Given the description of an element on the screen output the (x, y) to click on. 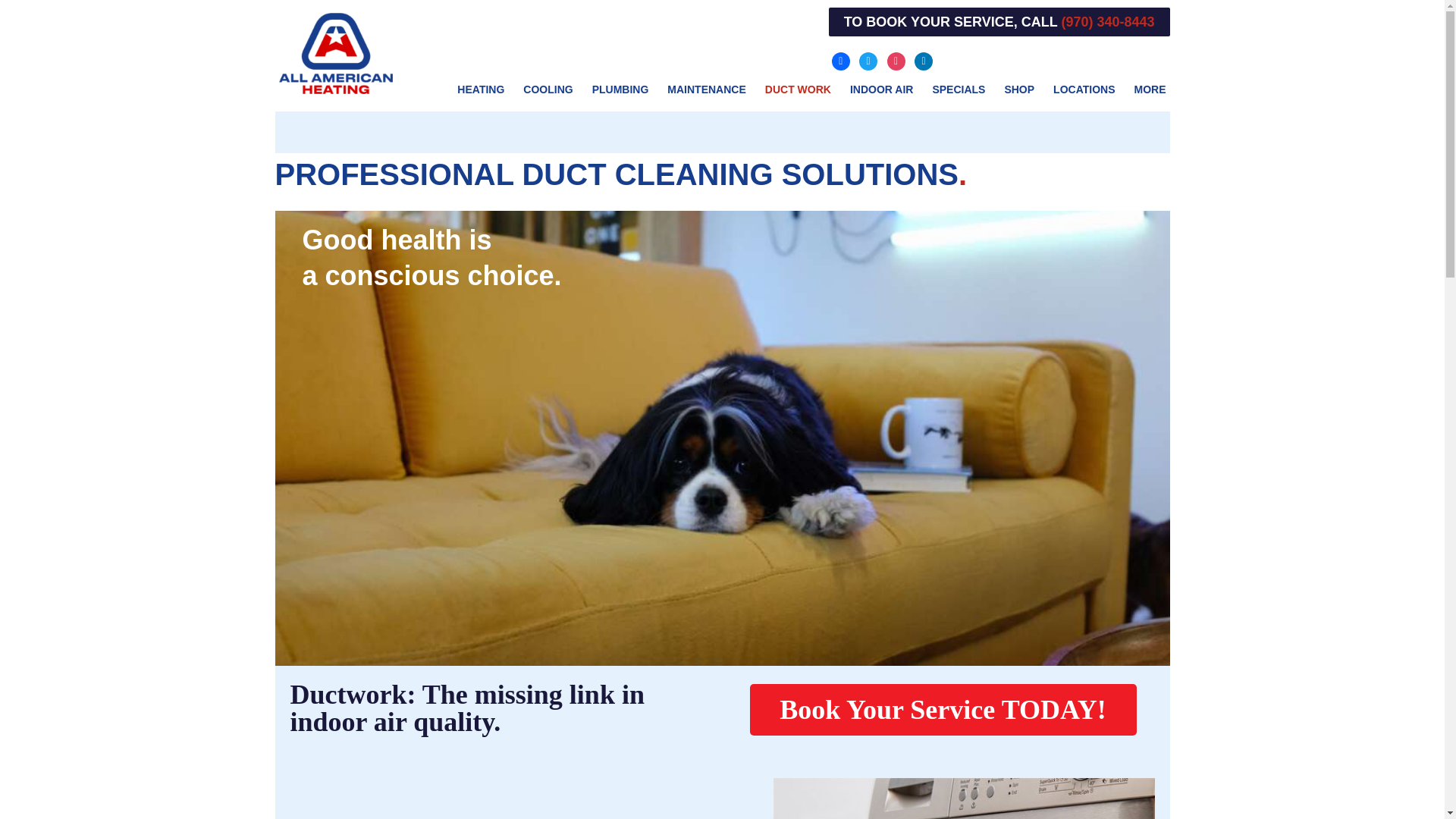
HEATING (480, 88)
INDOOR AIR (881, 88)
linkedin (923, 60)
Instagram (895, 60)
SPECIALS (958, 88)
Facebook (840, 60)
COOLING (547, 88)
facebook (840, 60)
X (868, 60)
twitter (868, 60)
instagram (895, 60)
PLUMBING (620, 88)
MAINTENANCE (705, 88)
DUCT WORK (798, 88)
